Given the description of an element on the screen output the (x, y) to click on. 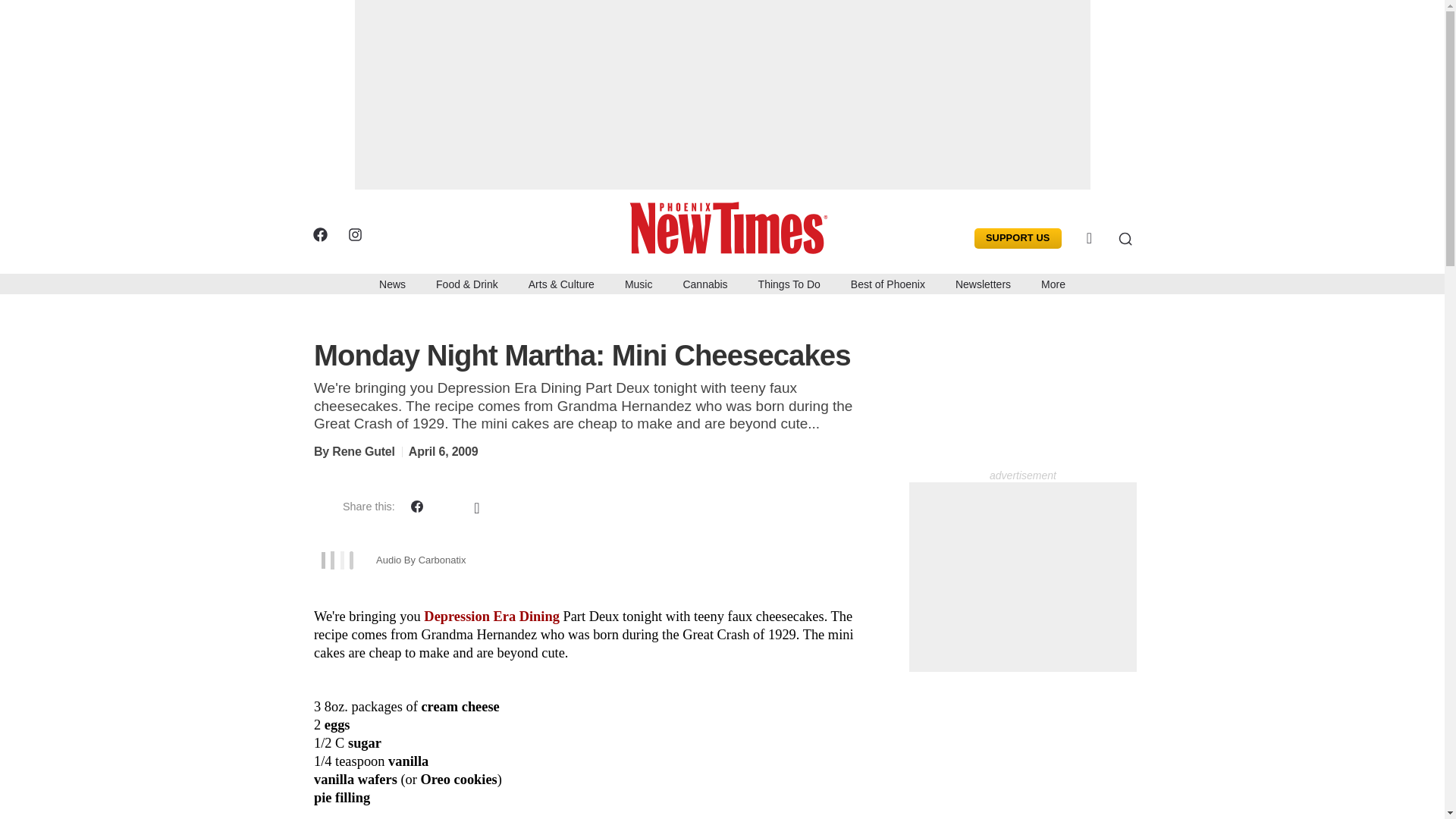
instagram (354, 234)
linkedin (423, 234)
facebook (319, 234)
Phoenix New Times (731, 226)
Search (1113, 237)
SUPPORT US (1017, 238)
twitter (388, 234)
News (392, 283)
tiktok (458, 234)
threads (493, 234)
